Given the description of an element on the screen output the (x, y) to click on. 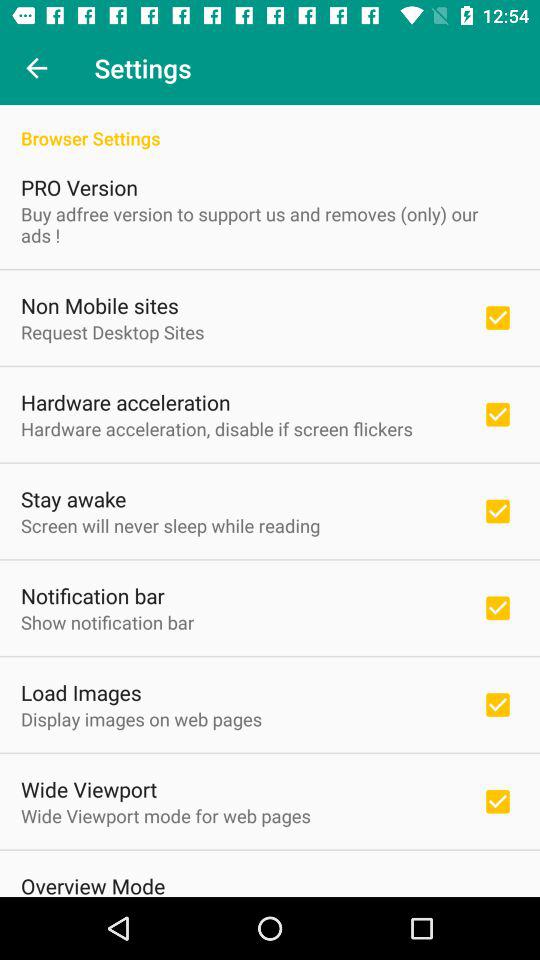
flip until stay awake icon (73, 498)
